Given the description of an element on the screen output the (x, y) to click on. 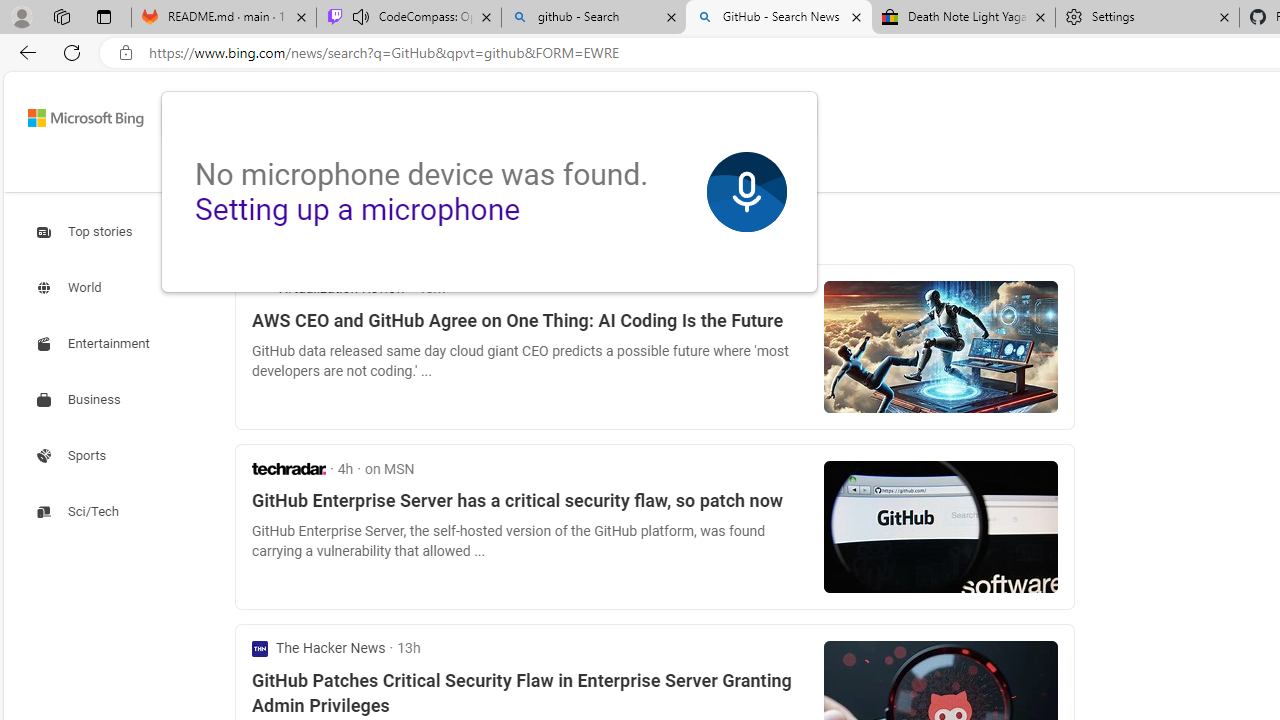
Settings (1147, 17)
COPILOT (311, 170)
Search news about Entertainment (95, 344)
Workspaces (61, 16)
Back to Bing search (73, 113)
GitHub - Search News (779, 17)
Search news about Sports (73, 455)
Any time (287, 232)
Search news from The Hacker News (319, 648)
Search button (786, 117)
NEWS (618, 170)
